Given the description of an element on the screen output the (x, y) to click on. 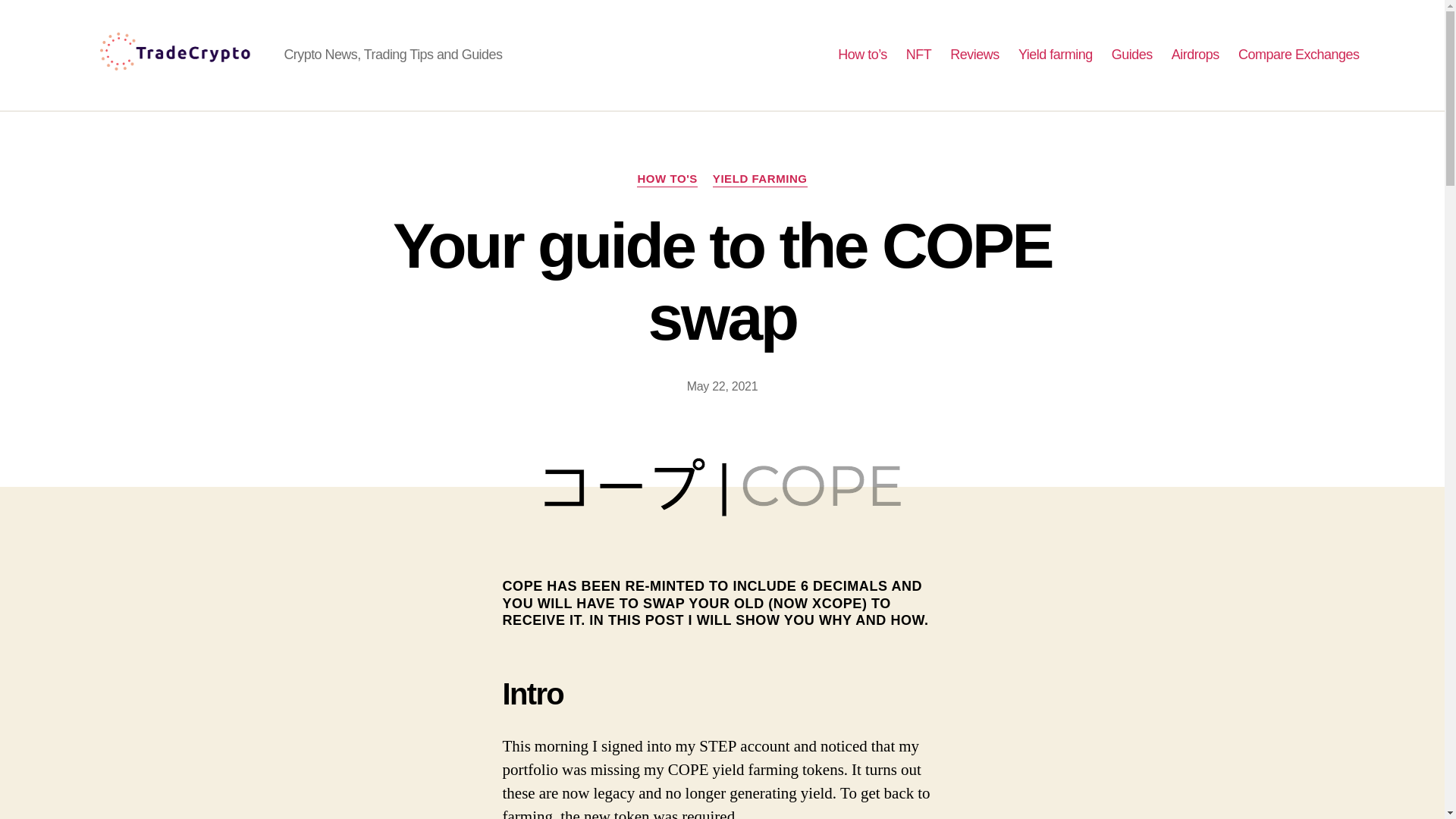
May 22, 2021 (722, 386)
Guides (1132, 54)
HOW TO'S (667, 179)
NFT (918, 54)
Reviews (974, 54)
Compare Exchanges (1299, 54)
Airdrops (1196, 54)
Yield farming (1055, 54)
YIELD FARMING (760, 179)
